Given the description of an element on the screen output the (x, y) to click on. 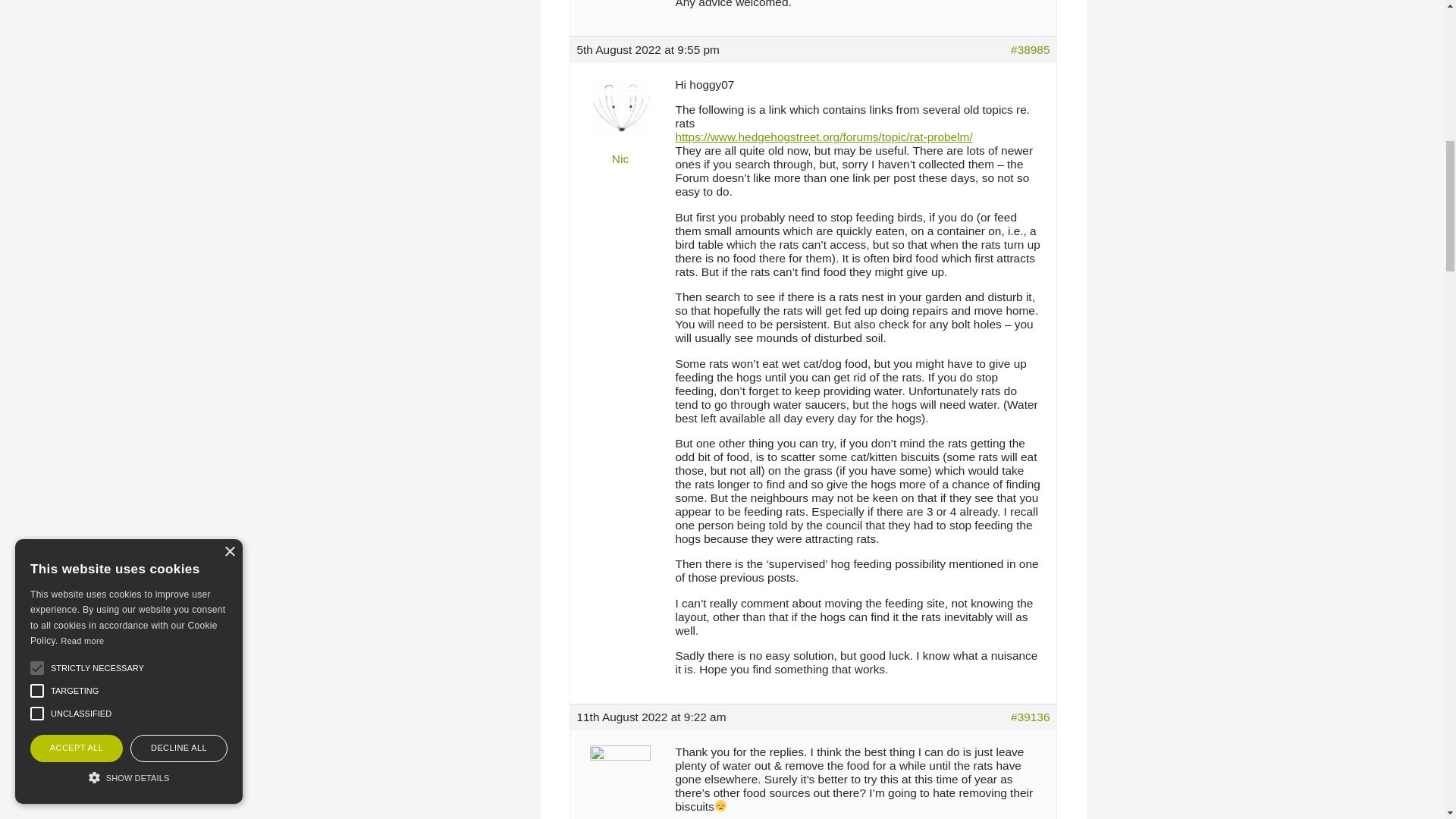
View hoggy07's profile (619, 777)
View Nic's profile (619, 117)
